Given the description of an element on the screen output the (x, y) to click on. 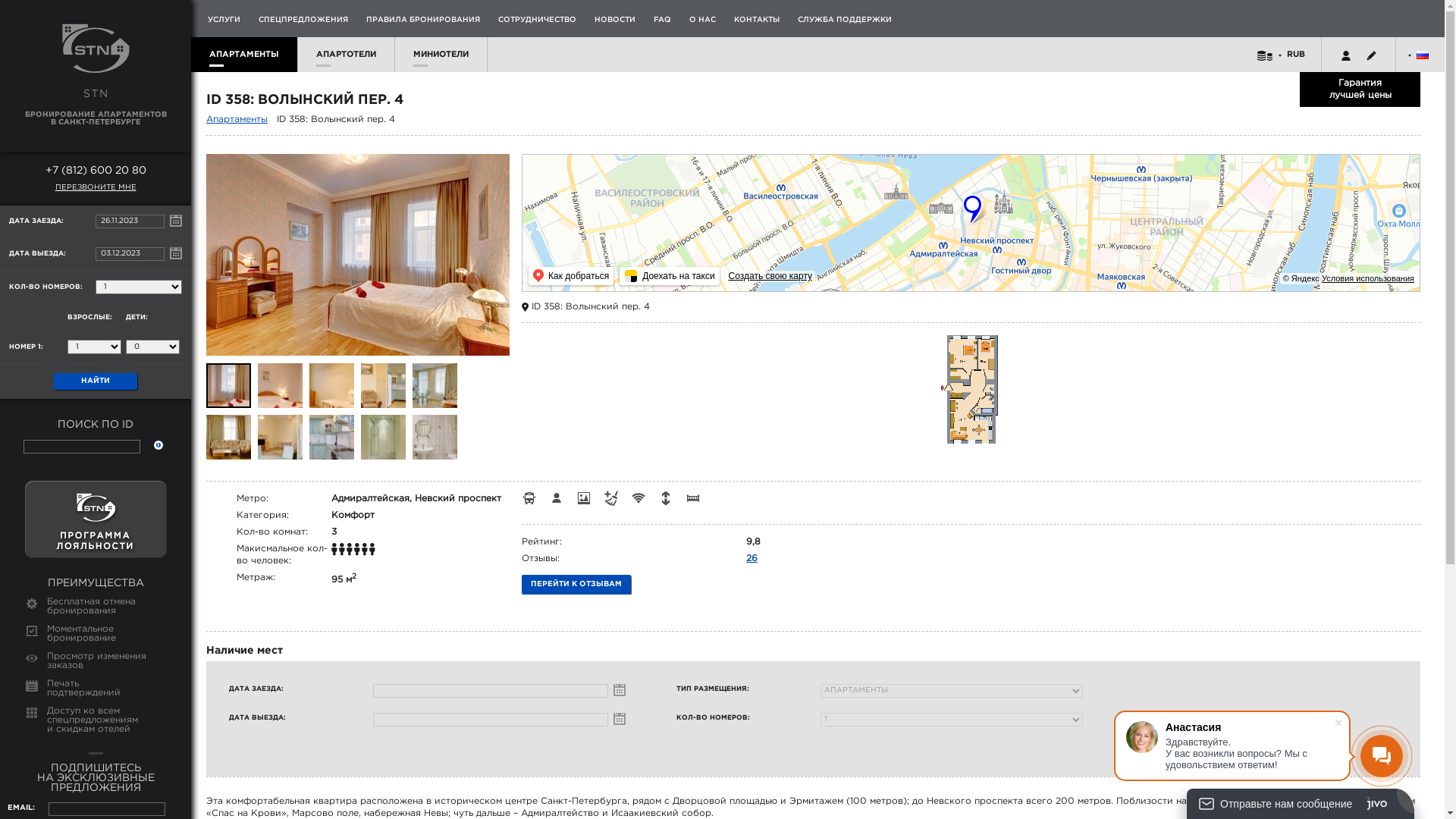
FAQ Element type: text (662, 19)
RUB Element type: text (1295, 54)
USD Element type: text (1295, 74)
English Element type: hover (1422, 64)
26 Element type: text (751, 558)
EUR Element type: text (1295, 64)
